Given the description of an element on the screen output the (x, y) to click on. 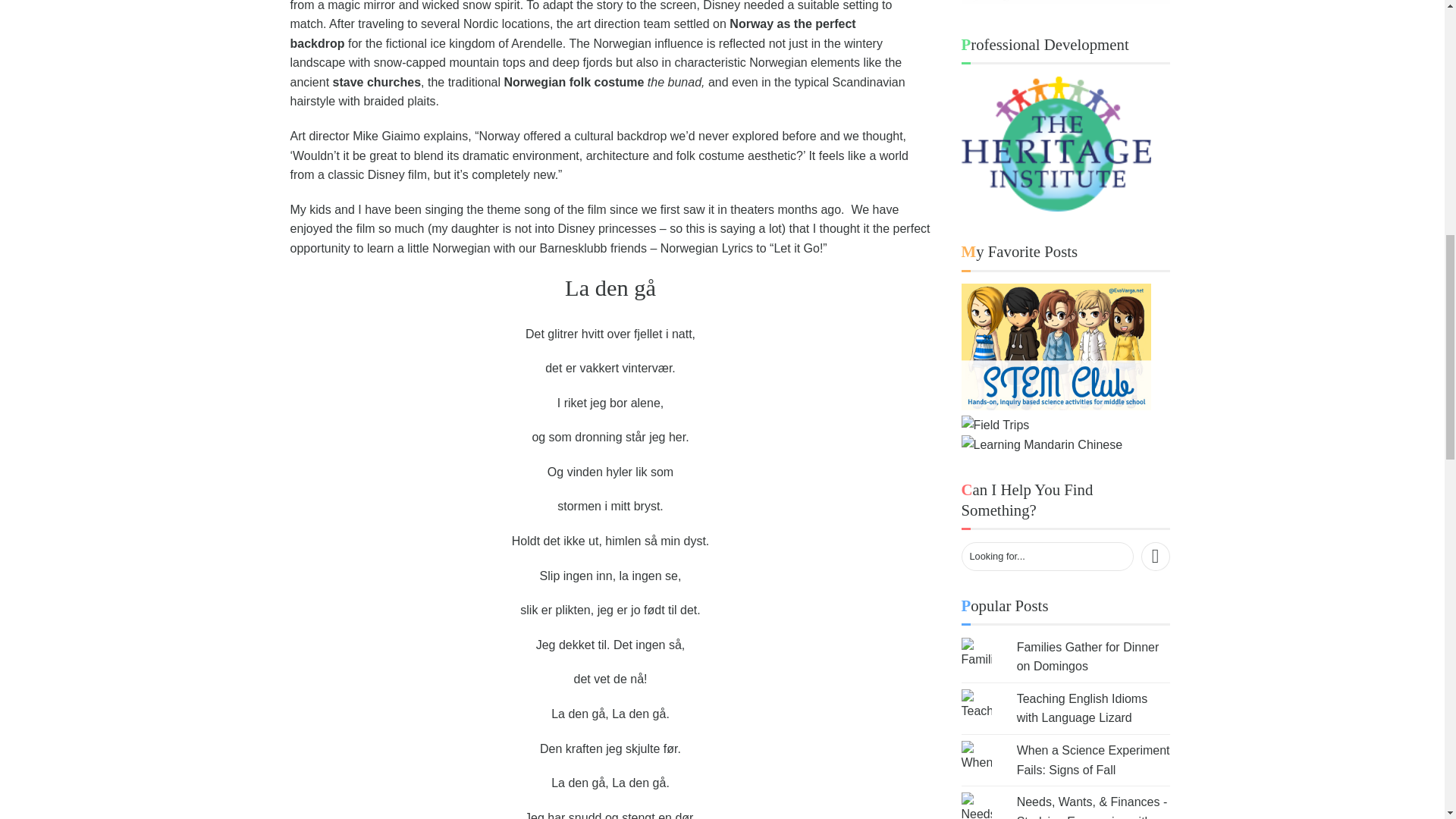
Teaching English Idioms with Language Lizard (1082, 708)
When a Science Experiment Fails: Signs of Fall (1093, 759)
Families Gather for Dinner on Domingos (1087, 656)
